Given the description of an element on the screen output the (x, y) to click on. 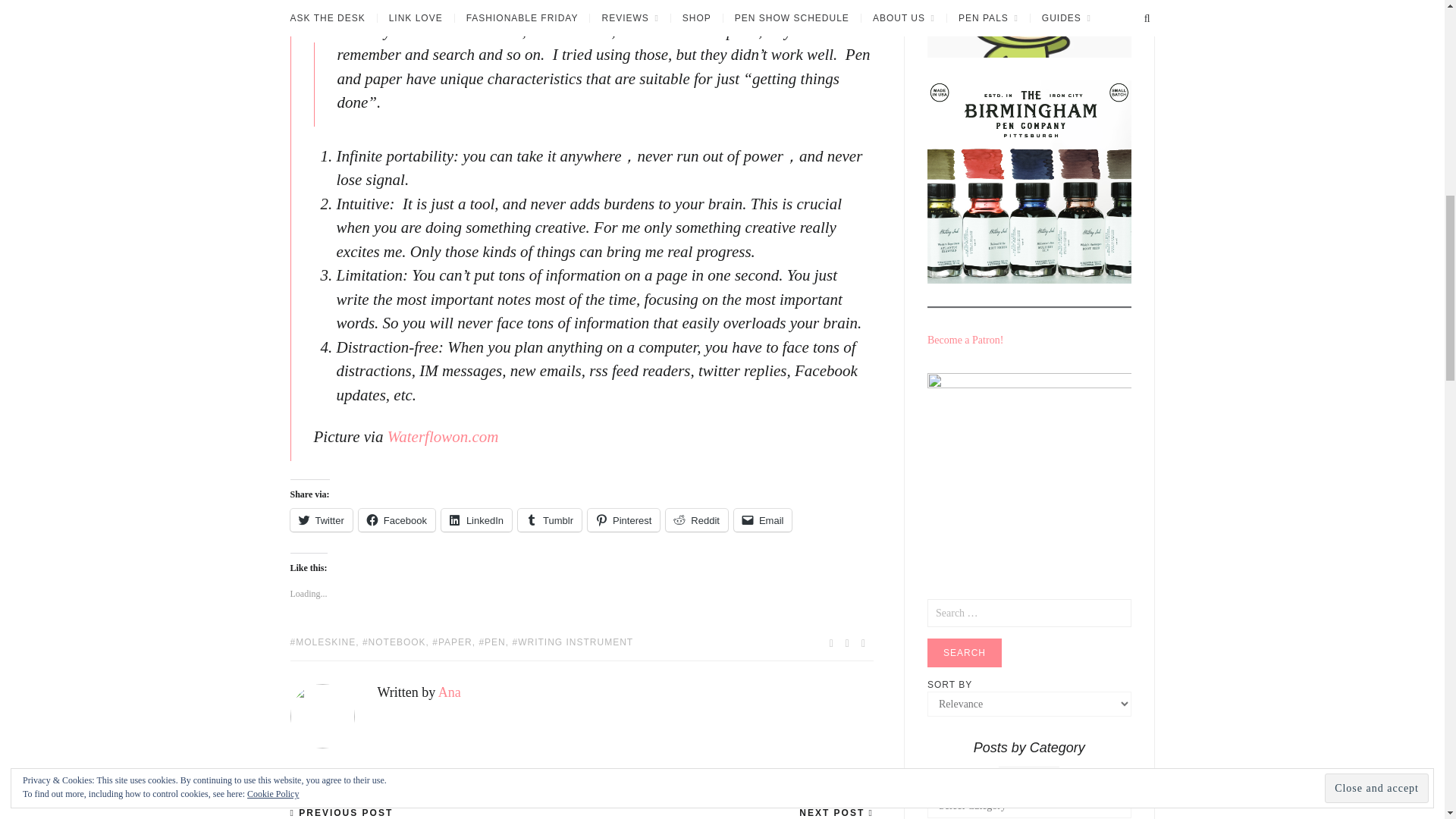
Click to email a link to a friend (762, 519)
Click to share on Tumblr (549, 519)
Click to share on LinkedIn (476, 519)
Twitter (320, 519)
Facebook (396, 519)
Click to share on Facebook (396, 519)
MOLESKINE (322, 642)
Email (762, 519)
Waterflowon.com (443, 436)
Click to share on Pinterest (623, 519)
